Given the description of an element on the screen output the (x, y) to click on. 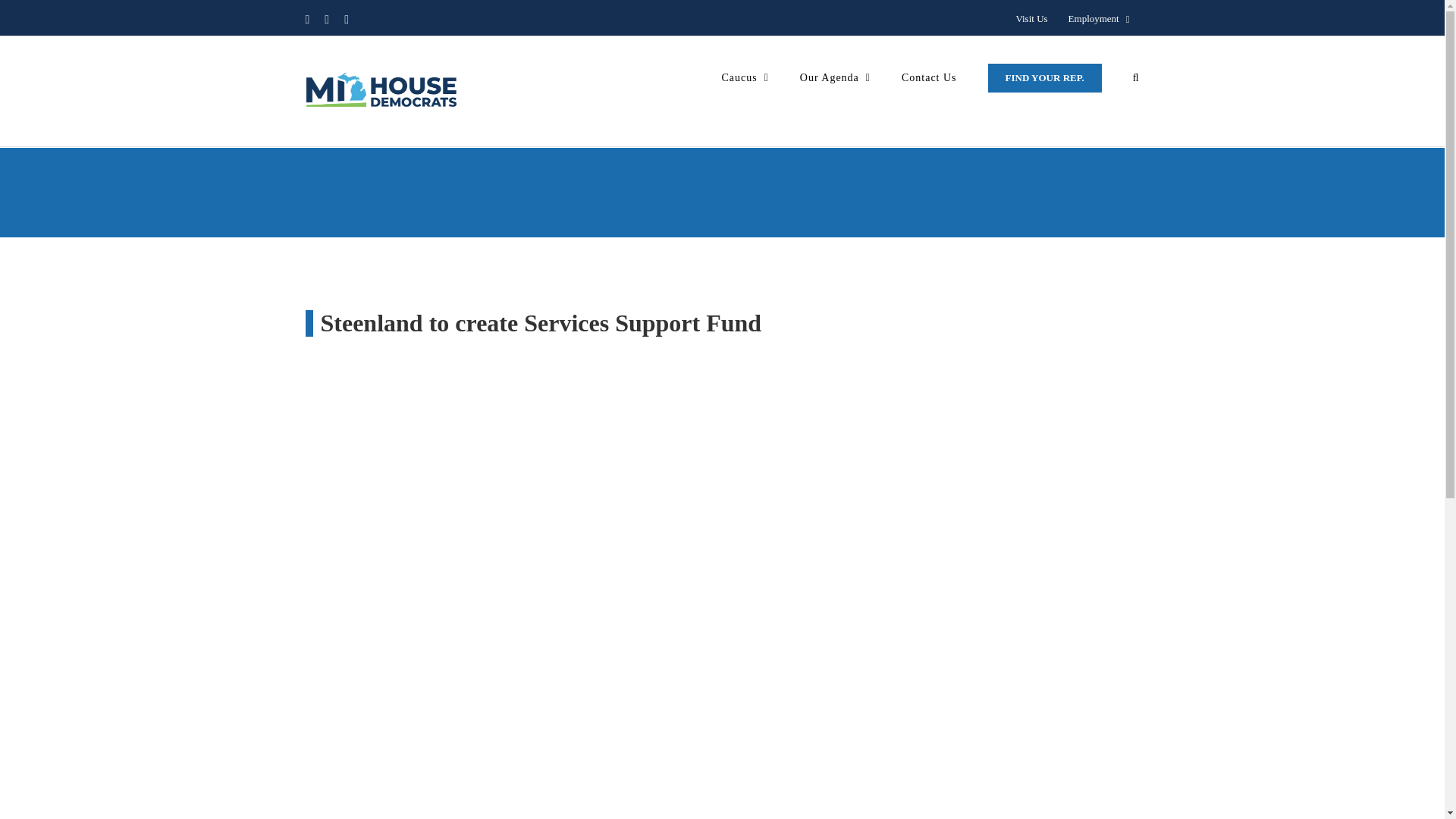
Visit Us (1031, 19)
Employment (1099, 19)
FIND YOUR REP. (1045, 78)
Our Agenda (834, 78)
